Given the description of an element on the screen output the (x, y) to click on. 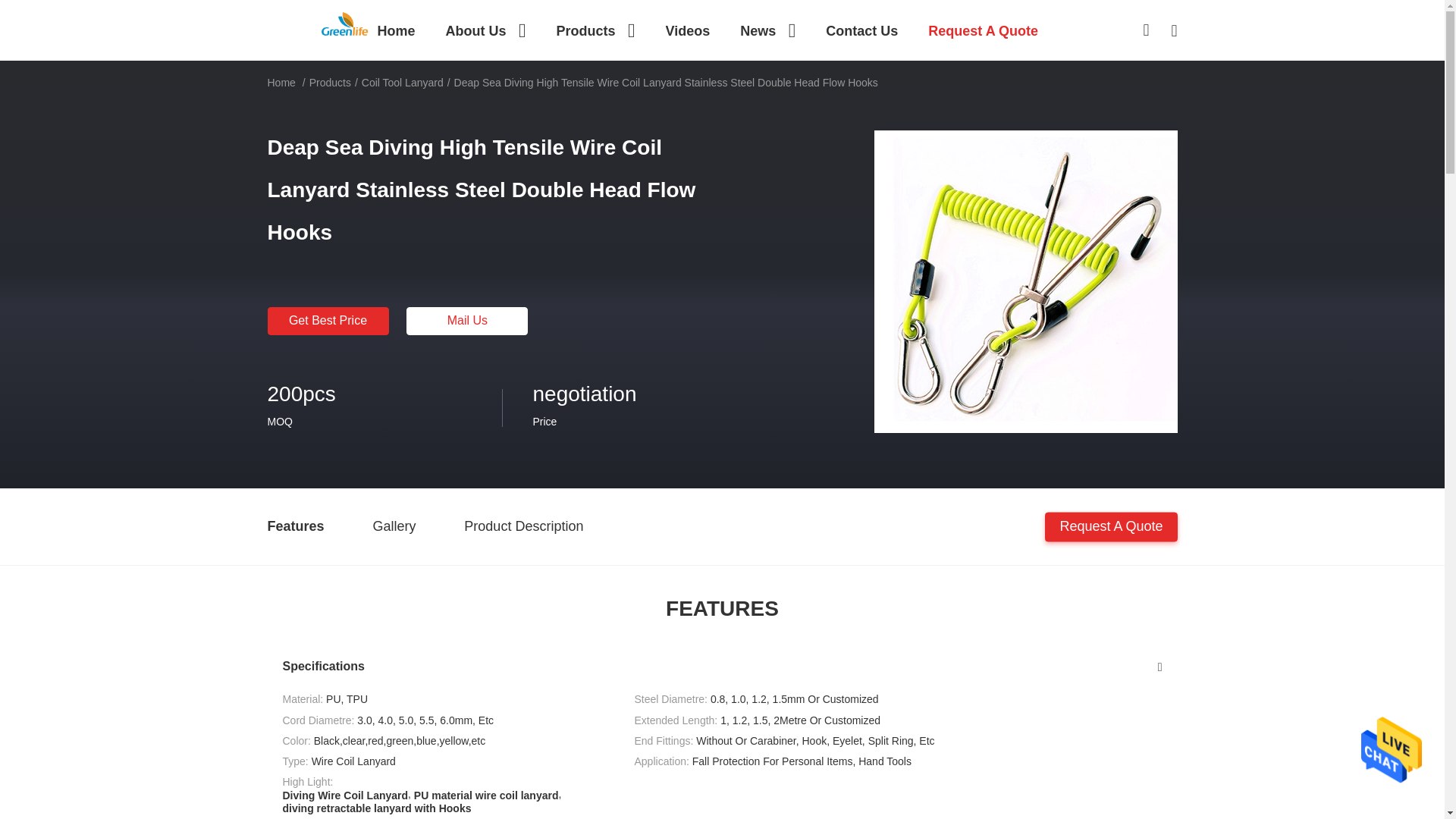
About Us (485, 30)
About Us (485, 30)
Products (595, 30)
Products (595, 30)
